Given the description of an element on the screen output the (x, y) to click on. 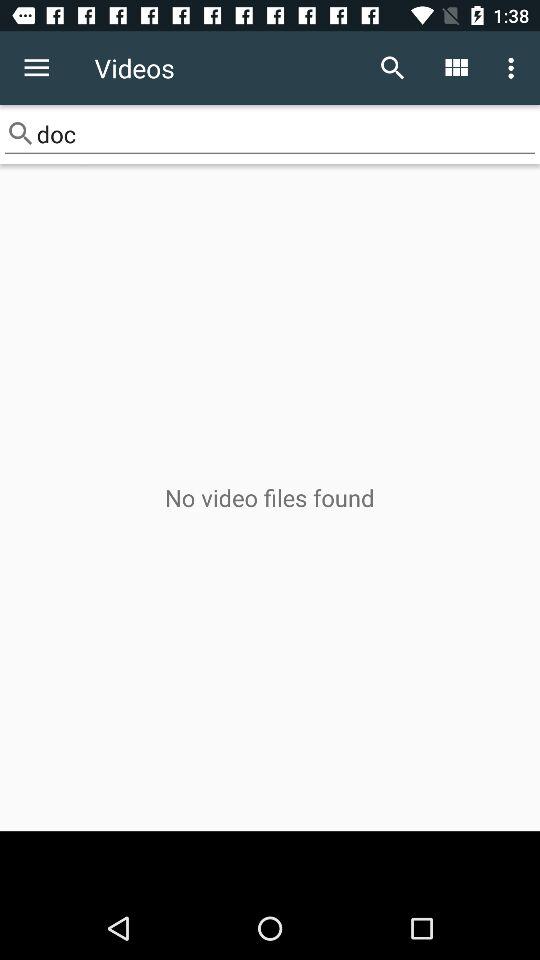
turn off icon next to the videos item (36, 68)
